Given the description of an element on the screen output the (x, y) to click on. 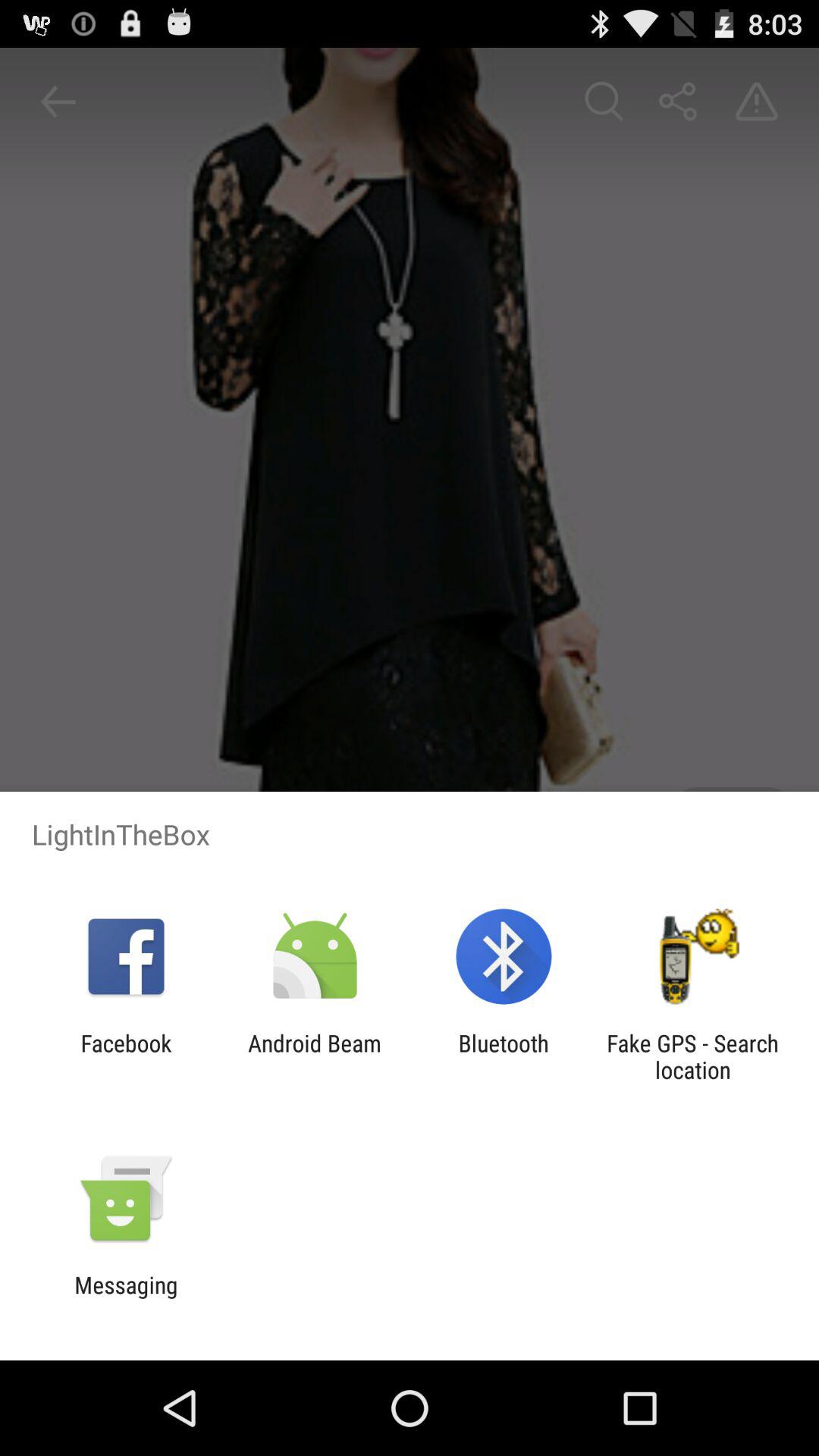
turn on the item at the bottom right corner (692, 1056)
